Given the description of an element on the screen output the (x, y) to click on. 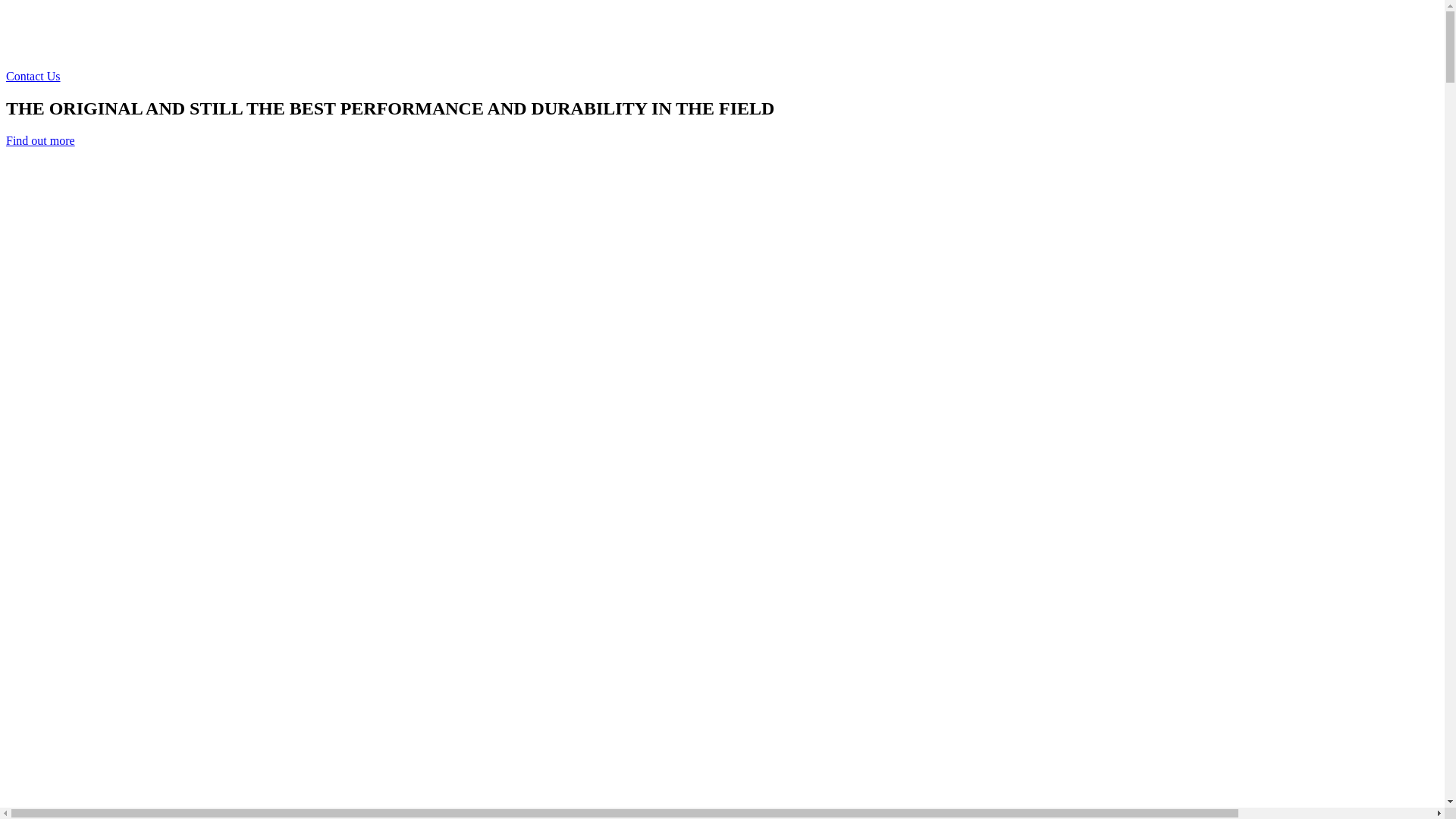
Contact Us Element type: text (33, 75)
Find out more Element type: text (40, 140)
